Given the description of an element on the screen output the (x, y) to click on. 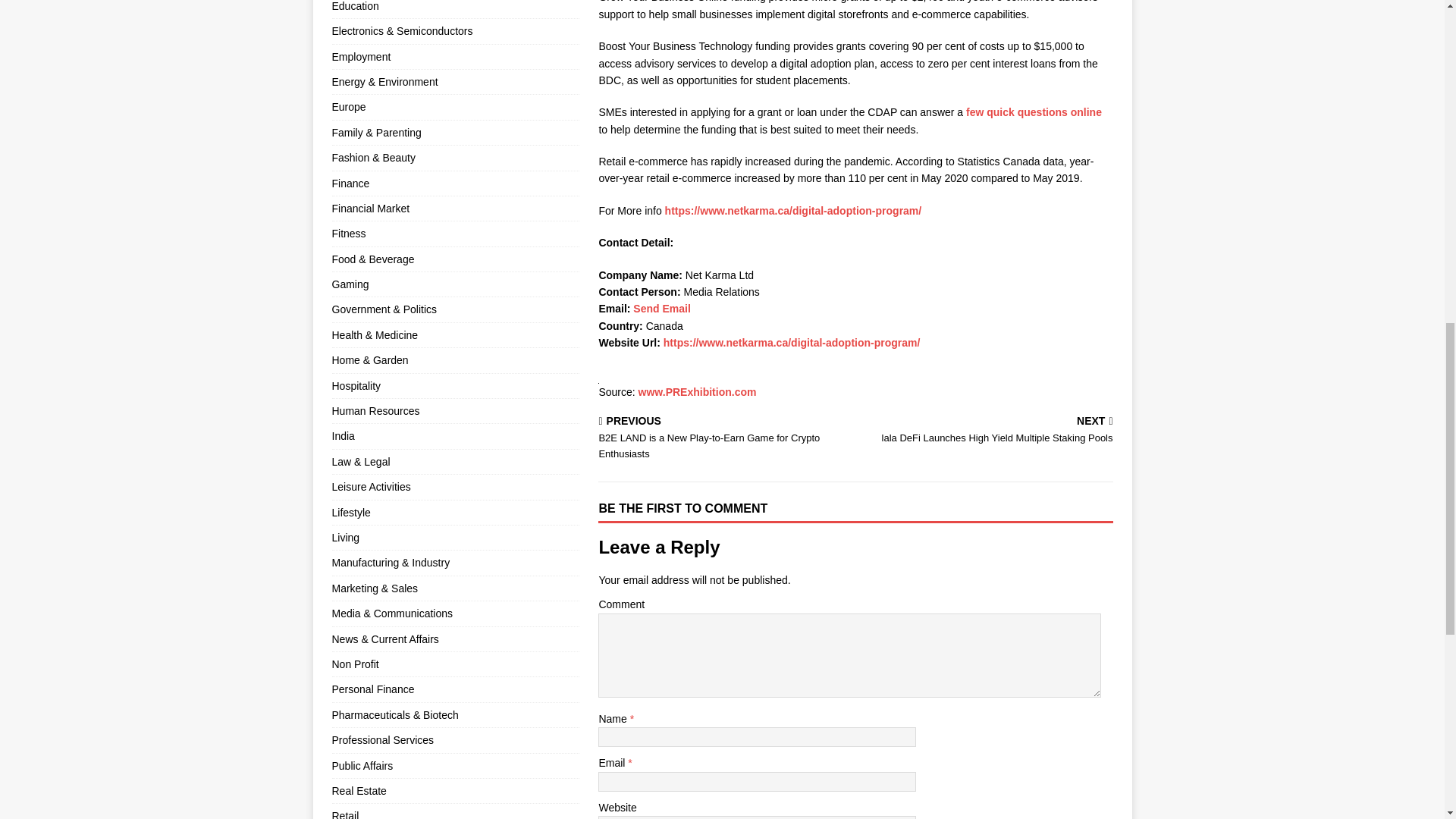
Employment (455, 56)
Education (455, 9)
Send Email (661, 308)
few quick questions online (1034, 111)
www.PRExhibition.com (698, 391)
